Given the description of an element on the screen output the (x, y) to click on. 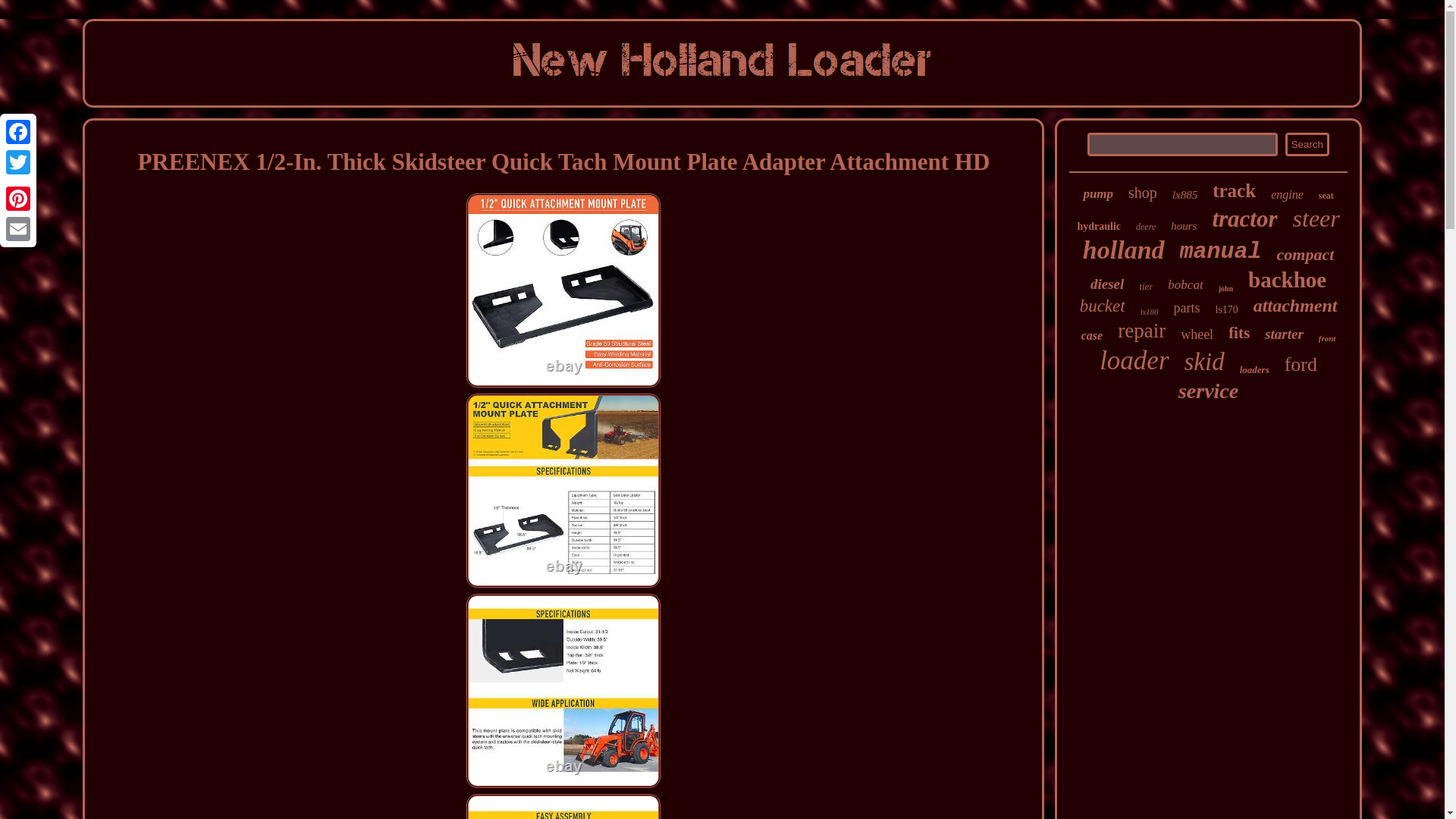
holland (1123, 249)
tractor (1243, 218)
shop (1142, 192)
Search (1307, 144)
steer (1315, 218)
deere (1145, 226)
Twitter (17, 162)
Search (1307, 144)
track (1233, 190)
pump (1098, 193)
Facebook (17, 132)
lx885 (1184, 195)
engine (1287, 194)
seat (1326, 195)
hours (1183, 226)
